Given the description of an element on the screen output the (x, y) to click on. 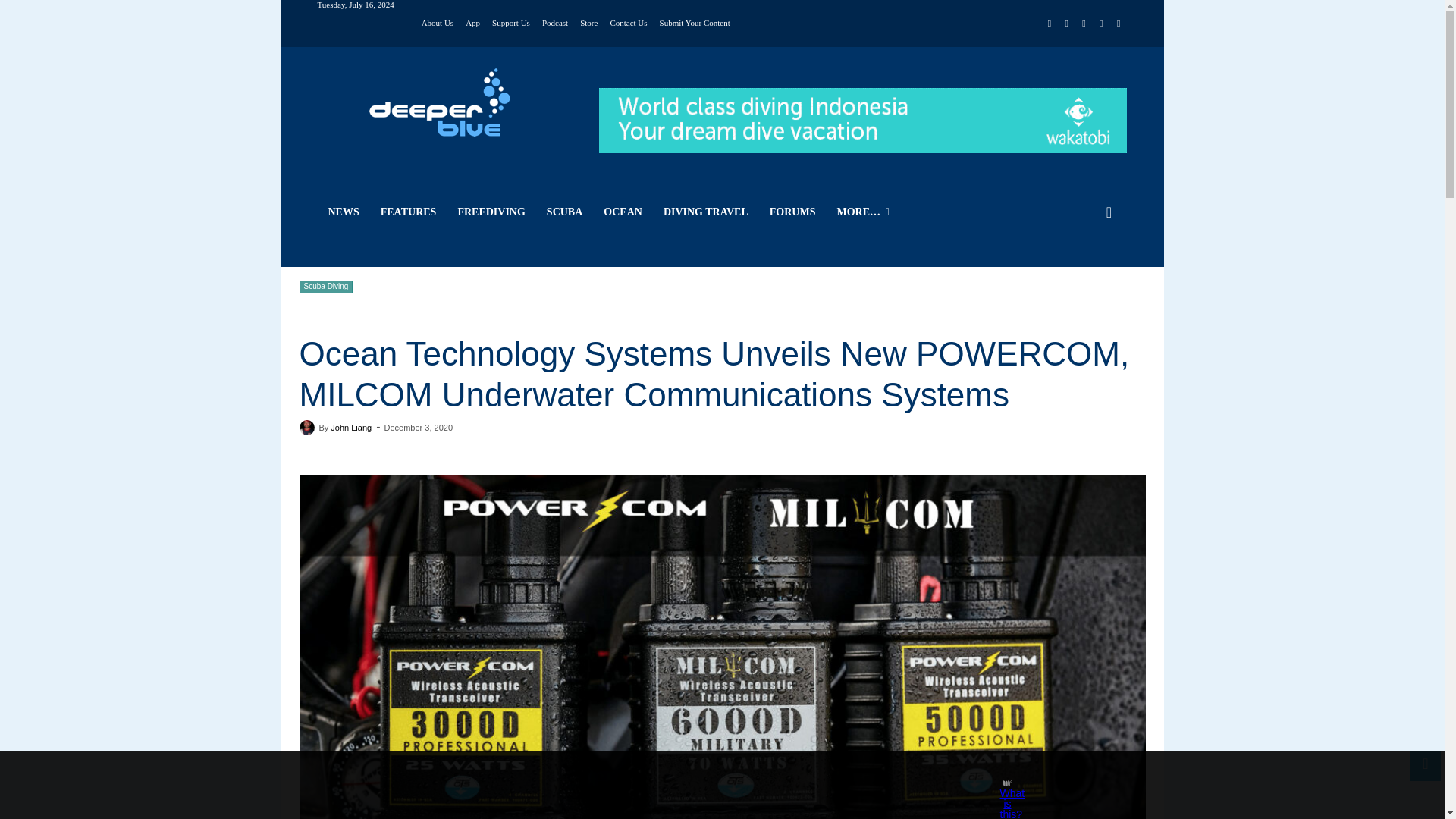
App (472, 22)
Podcast (554, 22)
Twitter (1101, 23)
Youtube (1117, 23)
Instagram (1066, 23)
About Us (437, 22)
RSS (1084, 23)
Facebook (1049, 23)
Contact Us (628, 22)
Store (587, 22)
Support Us (510, 22)
